Given the description of an element on the screen output the (x, y) to click on. 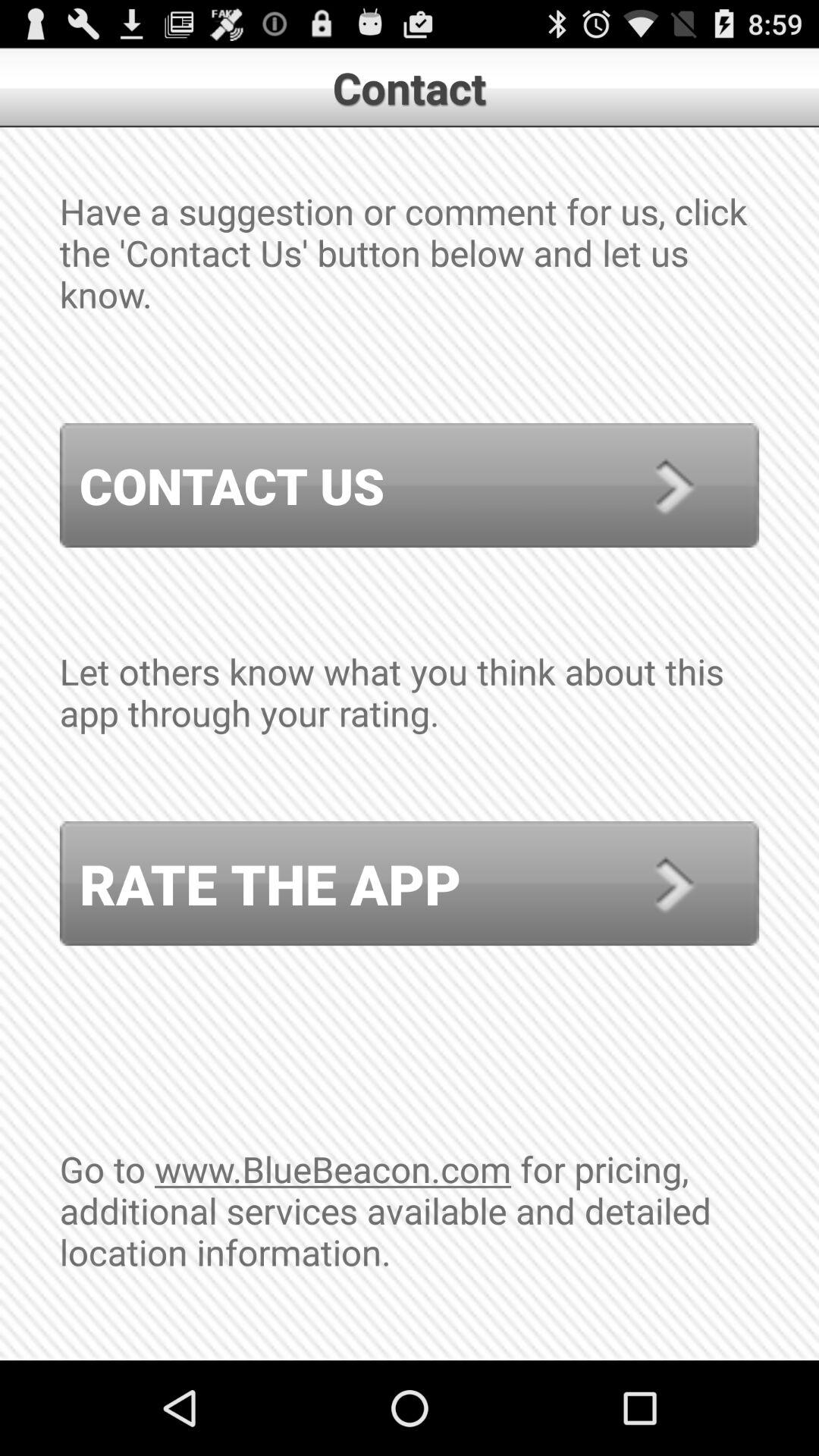
swipe to the rate the app item (409, 883)
